Given the description of an element on the screen output the (x, y) to click on. 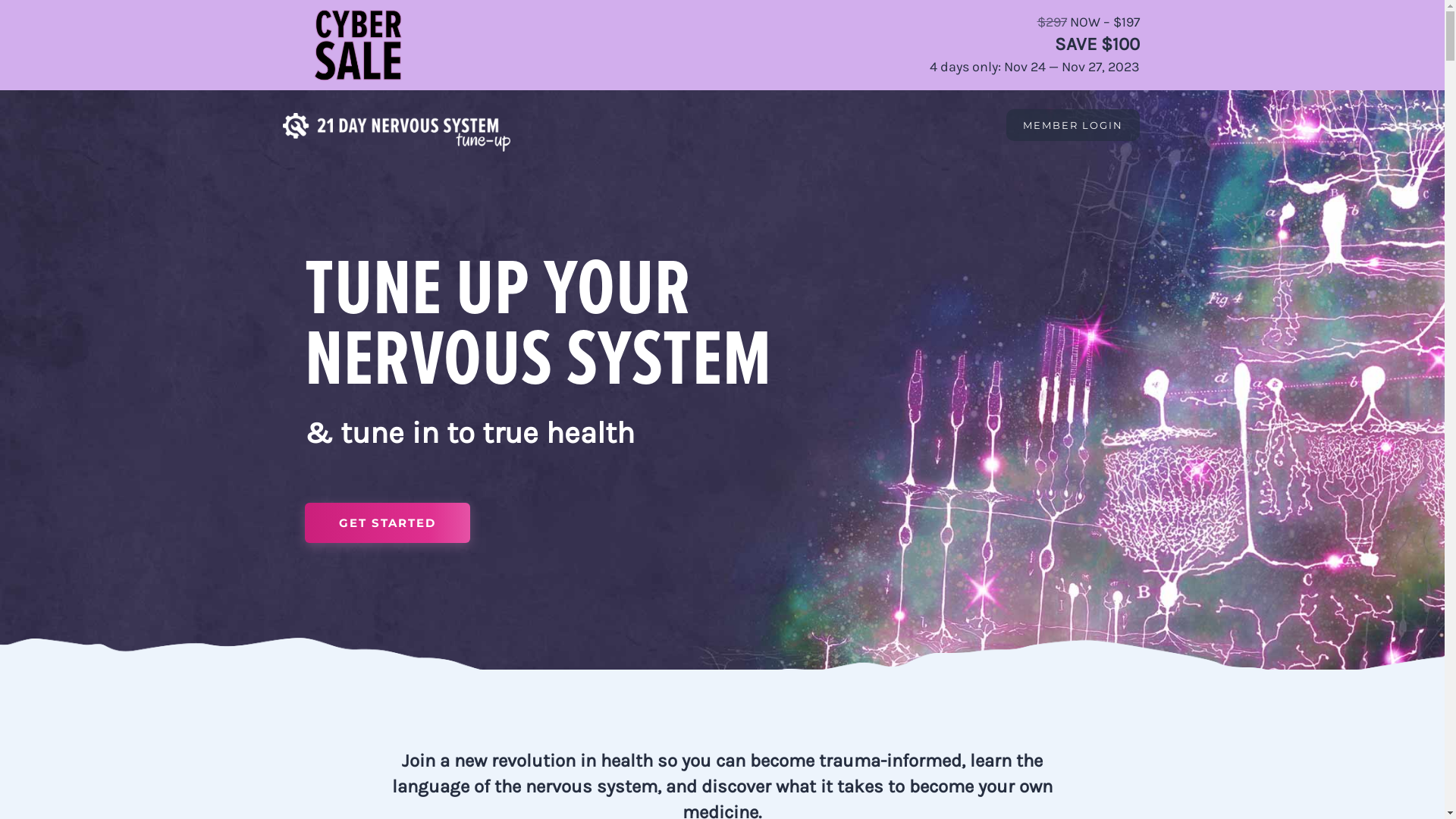
MEMBER LOGIN Element type: text (1072, 125)
GET STARTED Element type: text (387, 522)
